Given the description of an element on the screen output the (x, y) to click on. 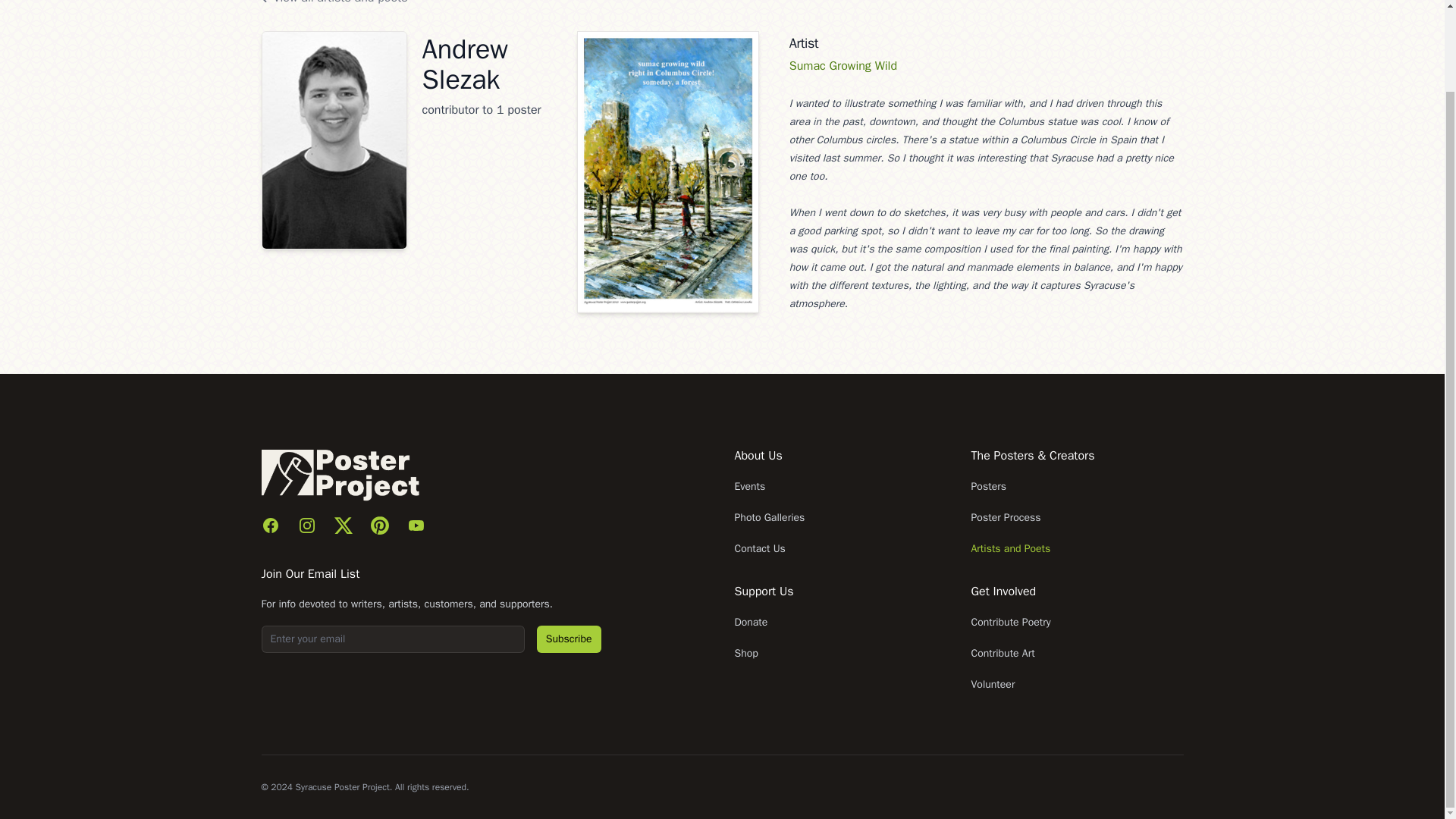
YouTube (415, 525)
Artists and Poets (1010, 548)
Contribute Art (1002, 653)
Contribute Poetry (1010, 621)
Instagram (306, 525)
Subscribe (569, 638)
Poster Process (1006, 517)
Events (749, 486)
Shop (745, 653)
Sumac Growing Wild (842, 65)
Twitter (342, 525)
Photo Galleries (769, 517)
Contact Us (758, 548)
Donate (750, 621)
Volunteer (992, 684)
